Given the description of an element on the screen output the (x, y) to click on. 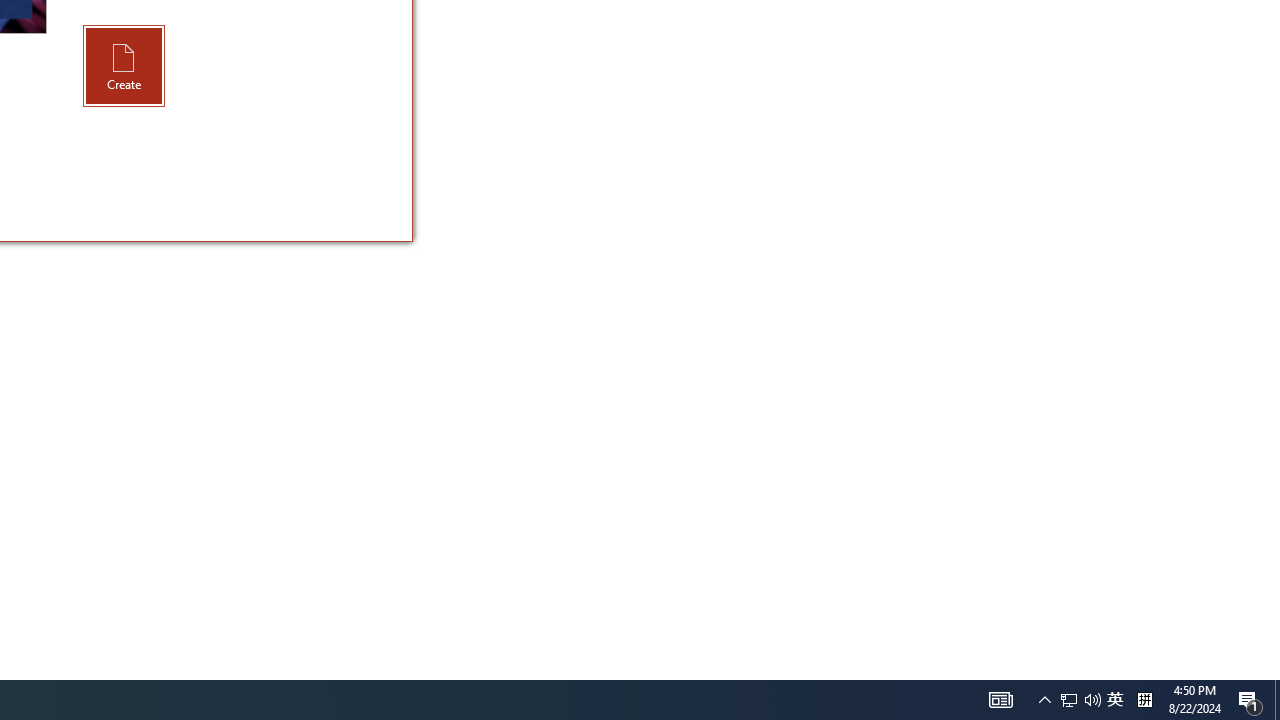
Create (124, 66)
